Given the description of an element on the screen output the (x, y) to click on. 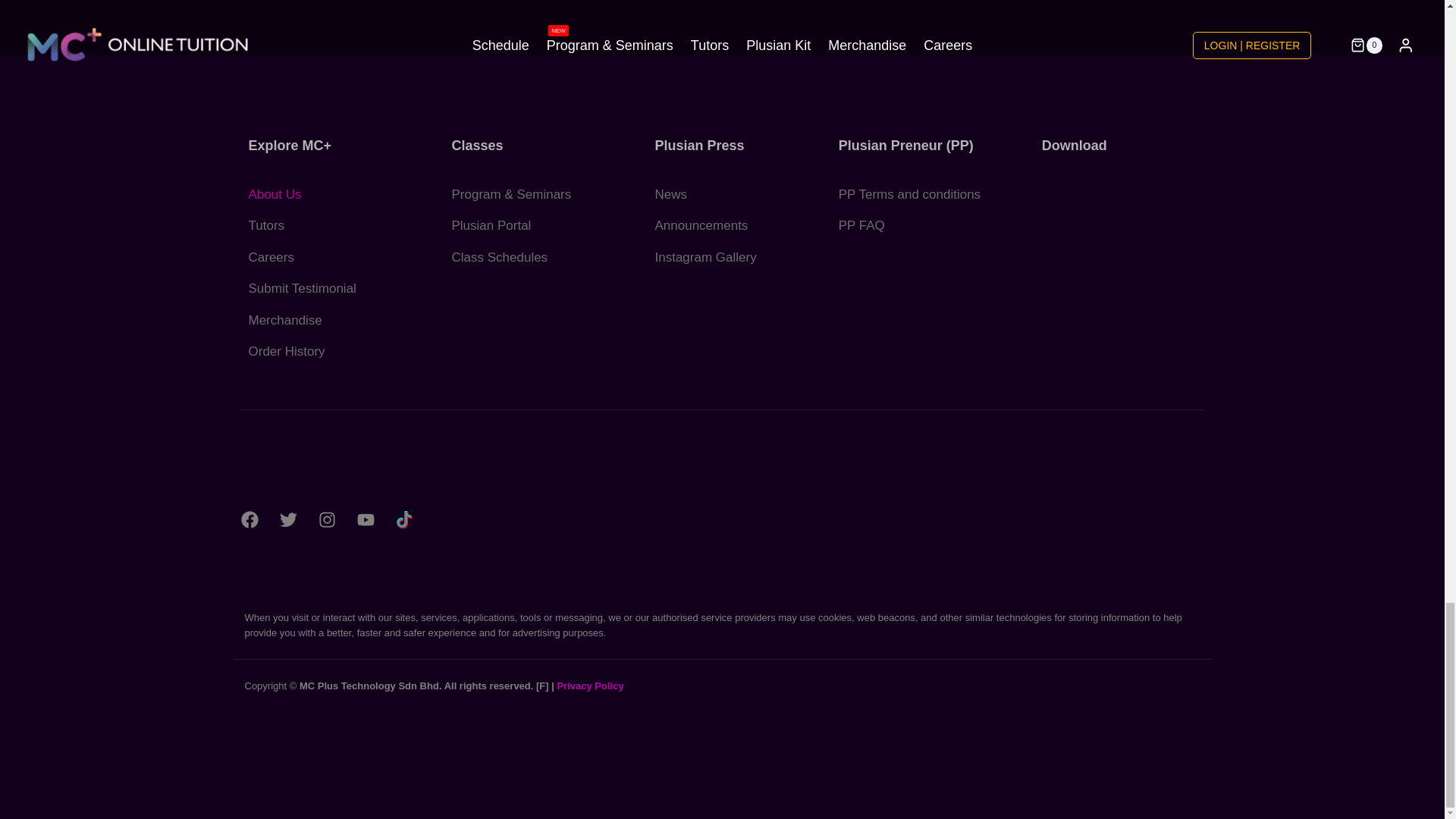
Tutors (330, 225)
Website by : Malaysia's Top Web Designer (541, 685)
Submit Testimonial (330, 288)
Class Schedules (534, 257)
About Us (330, 194)
Instagram Gallery (727, 257)
Merchandise (330, 320)
Careers (330, 257)
Announcements (727, 225)
Order History (330, 351)
News (727, 194)
Plusian Portal (534, 225)
